Given the description of an element on the screen output the (x, y) to click on. 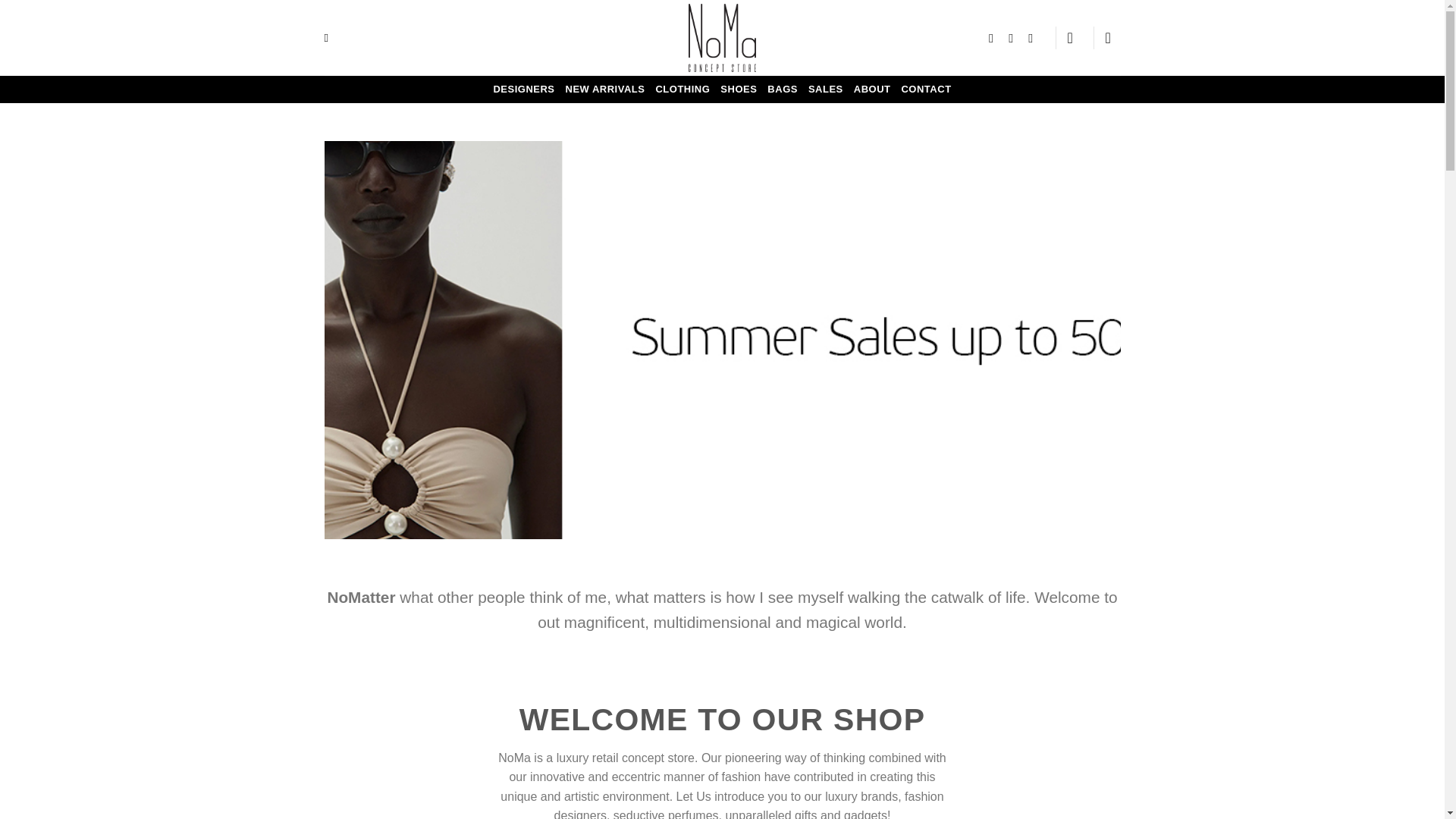
ABOUT (872, 89)
CONTACT (925, 89)
SALES (825, 89)
BAGS (782, 89)
NEW ARRIVALS (605, 89)
DESIGNERS (523, 89)
CLOTHING (682, 89)
SHOES (738, 89)
